Given the description of an element on the screen output the (x, y) to click on. 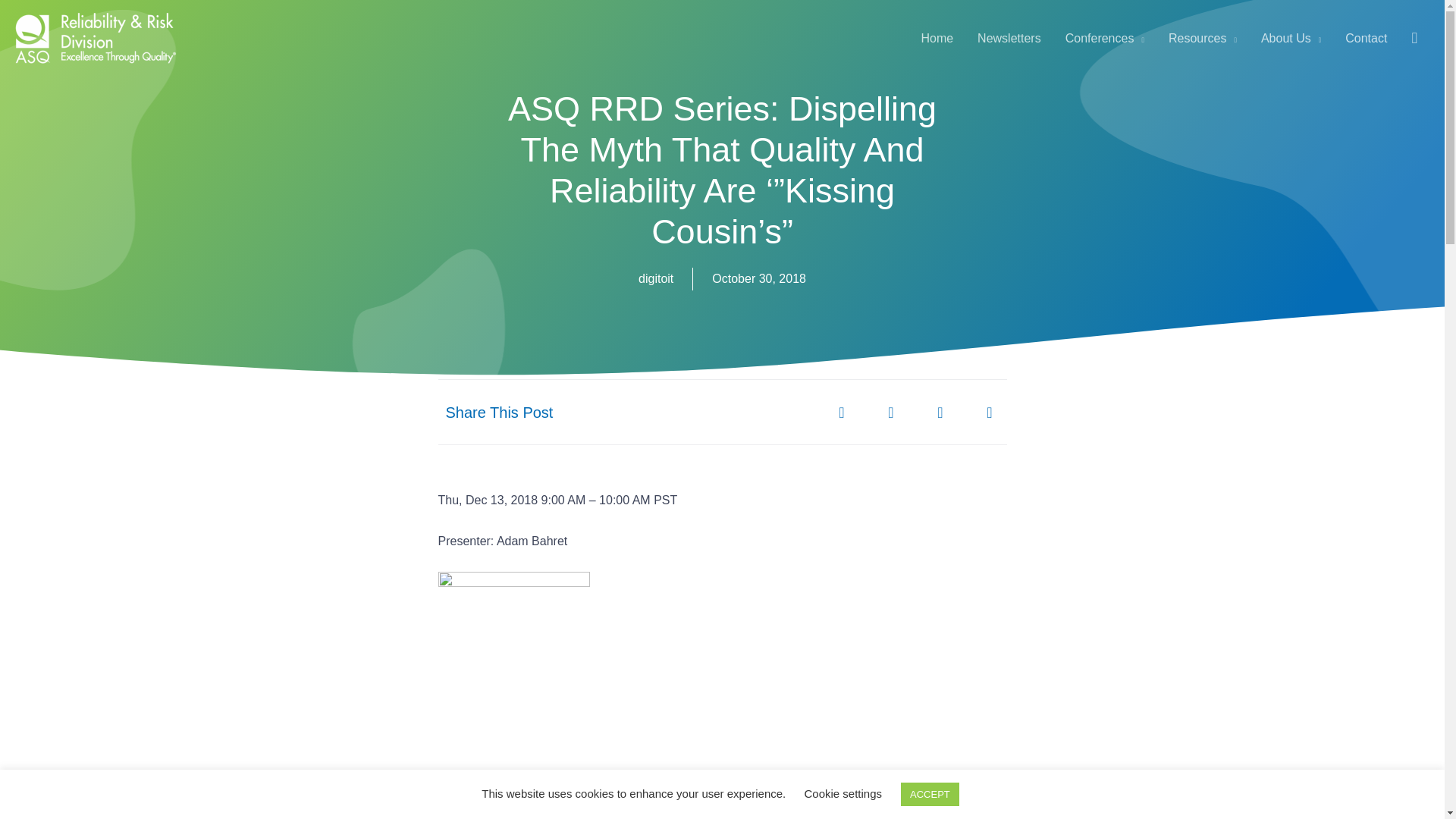
Search (1413, 37)
About Us (1291, 38)
Home (936, 38)
Resources (1202, 38)
digitoit (655, 278)
October 30, 2018 (758, 278)
Contact (1366, 38)
Conferences (1104, 38)
Newsletters (1008, 38)
